Given the description of an element on the screen output the (x, y) to click on. 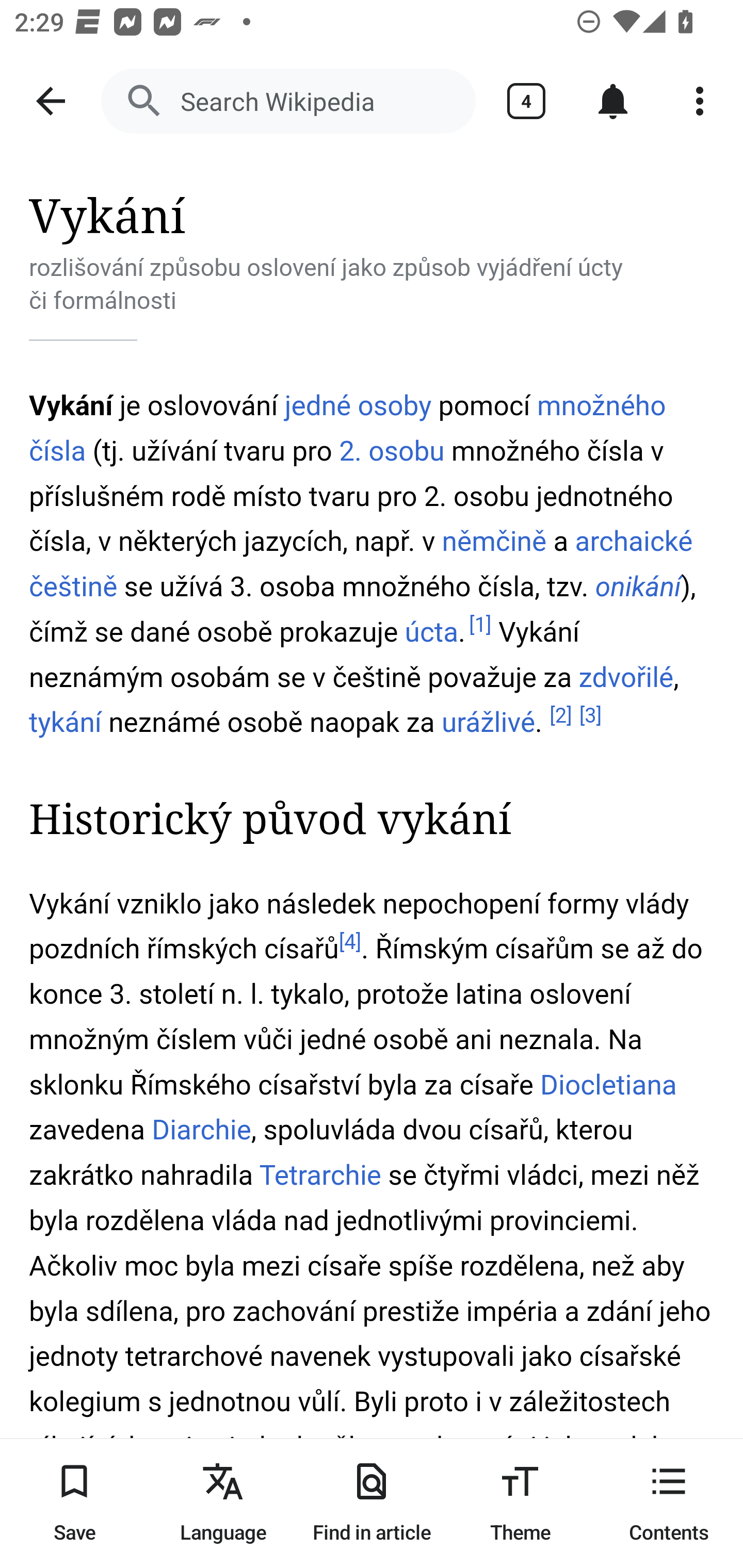
Show tabs 4 (525, 100)
Notifications (612, 100)
Navigate up (50, 101)
More options (699, 101)
Search Wikipedia (288, 100)
množného čísla (347, 427)
jedné osoby (358, 404)
2. osobu 2.   osobu (391, 449)
němčině (493, 542)
archaické (633, 542)
češtině (73, 587)
onikání (637, 587)
[] [ 1 ] (479, 625)
úcta (431, 631)
zdvořilé (626, 677)
[] [ 2 ] (560, 715)
[] [ 3 ] (590, 715)
tykání (65, 722)
urážlivé (488, 722)
[] [ 4 ] (349, 941)
Diocletiana (607, 1084)
Diarchie (201, 1130)
Tetrarchie (319, 1175)
Save (74, 1502)
Language (222, 1502)
Find in article (371, 1502)
Theme (519, 1502)
Contents (668, 1502)
